Given the description of an element on the screen output the (x, y) to click on. 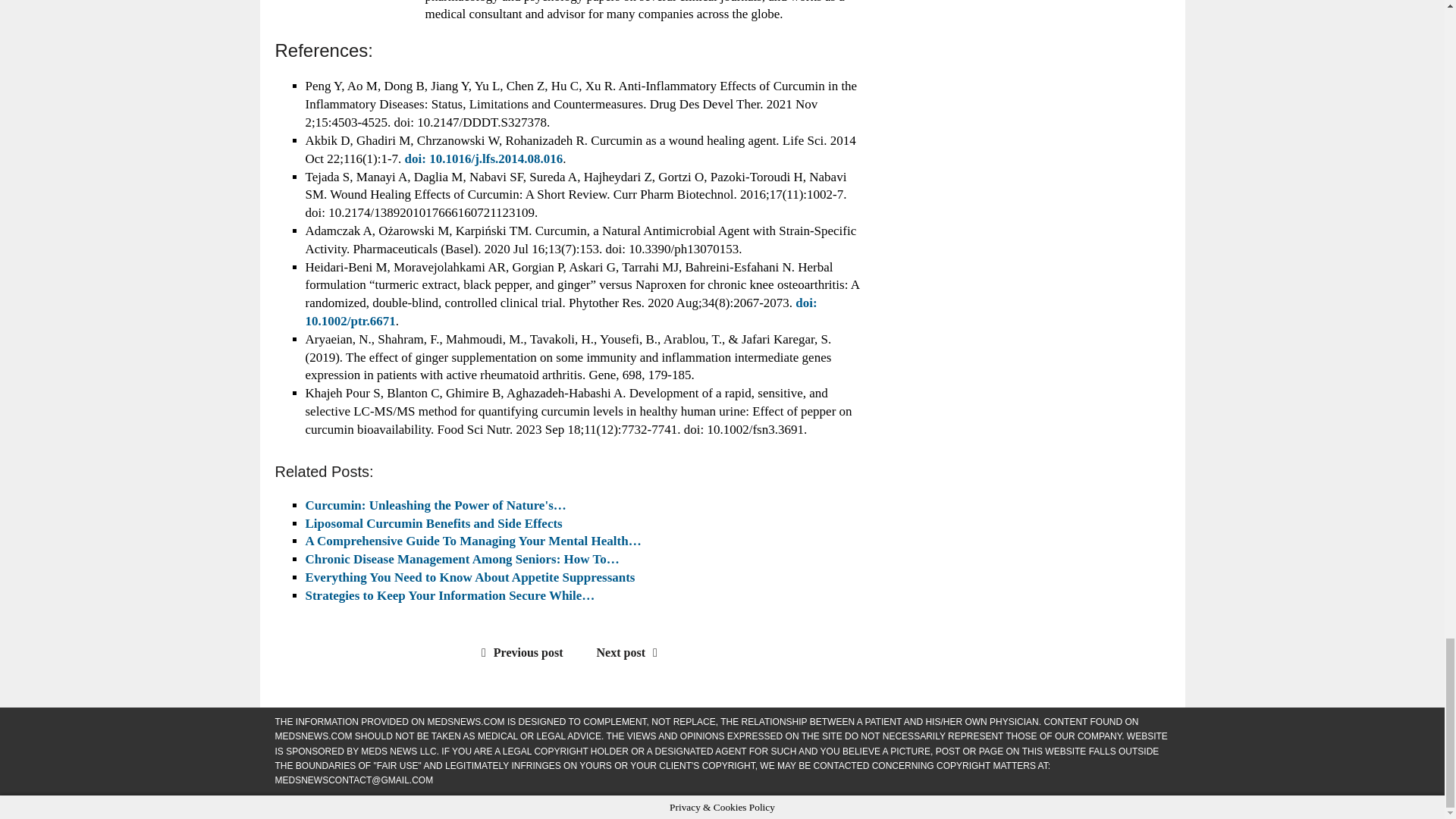
Everything You Need to Know About Appetite Suppressants (469, 577)
Previous post (518, 652)
Liposomal Curcumin Benefits and Side Effects (433, 522)
Next post (630, 652)
